Given the description of an element on the screen output the (x, y) to click on. 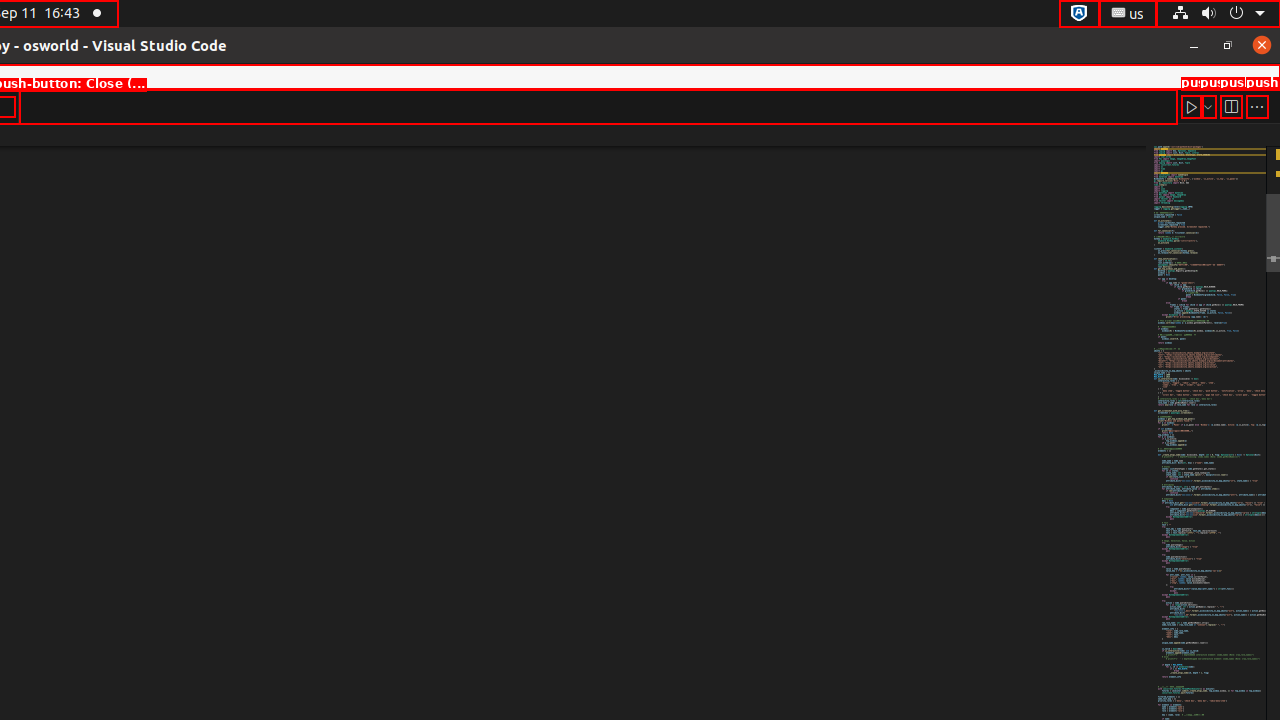
:1.21/StatusNotifierItem Element type: menu (1127, 13)
Split Editor Right (Ctrl+\) [Alt] Split Editor Down Element type: push-button (1231, 106)
More Actions... Element type: push-button (1257, 106)
Run or Debug... Element type: push-button (1208, 106)
